Given the description of an element on the screen output the (x, y) to click on. 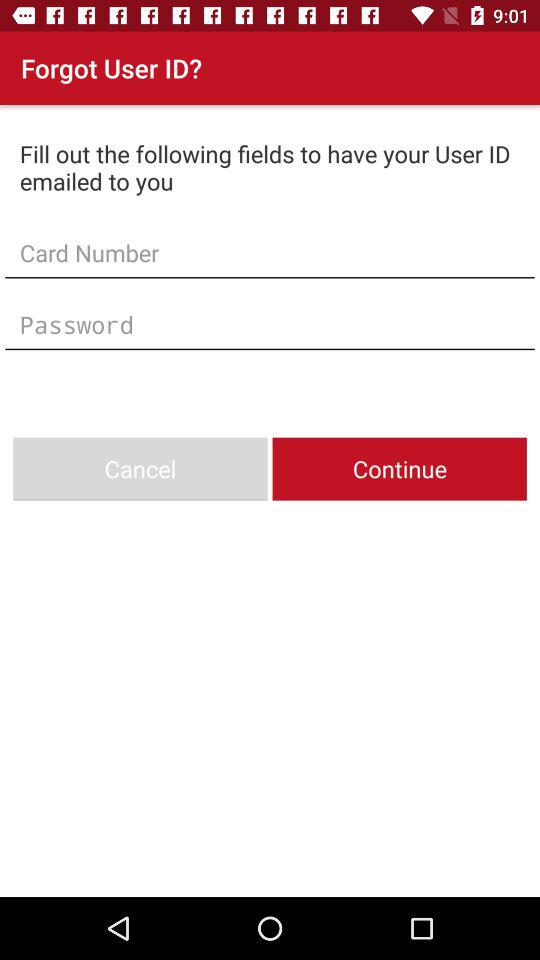
jump until the cancel icon (140, 468)
